Given the description of an element on the screen output the (x, y) to click on. 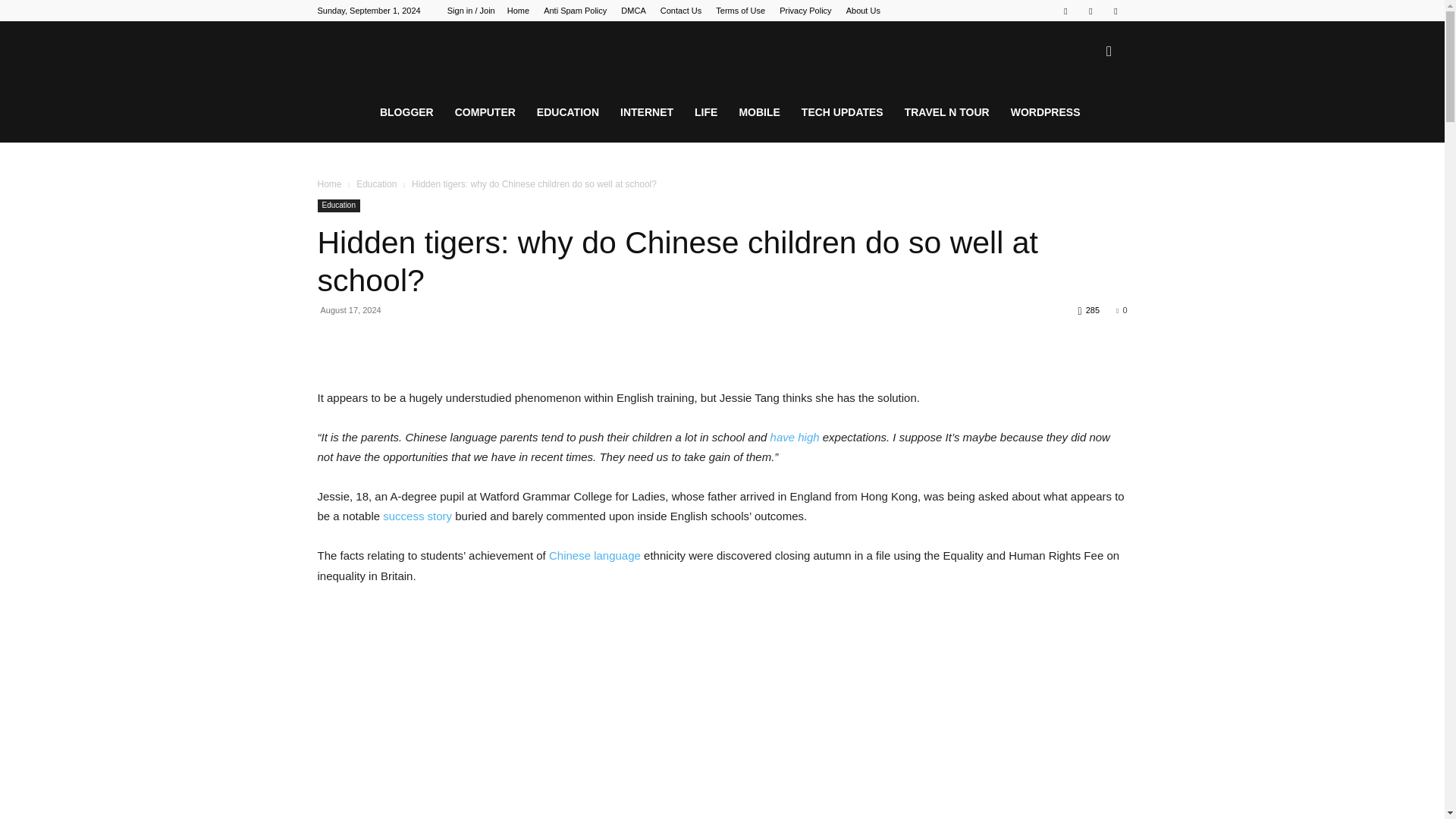
Home (517, 10)
Privacy Policy (804, 10)
Twitter (1114, 10)
Contact Us (681, 10)
About Us (862, 10)
Facebook (1065, 10)
RSS (1090, 10)
Anti Spam Policy (575, 10)
Terms of Use (740, 10)
Haze (430, 52)
